Given the description of an element on the screen output the (x, y) to click on. 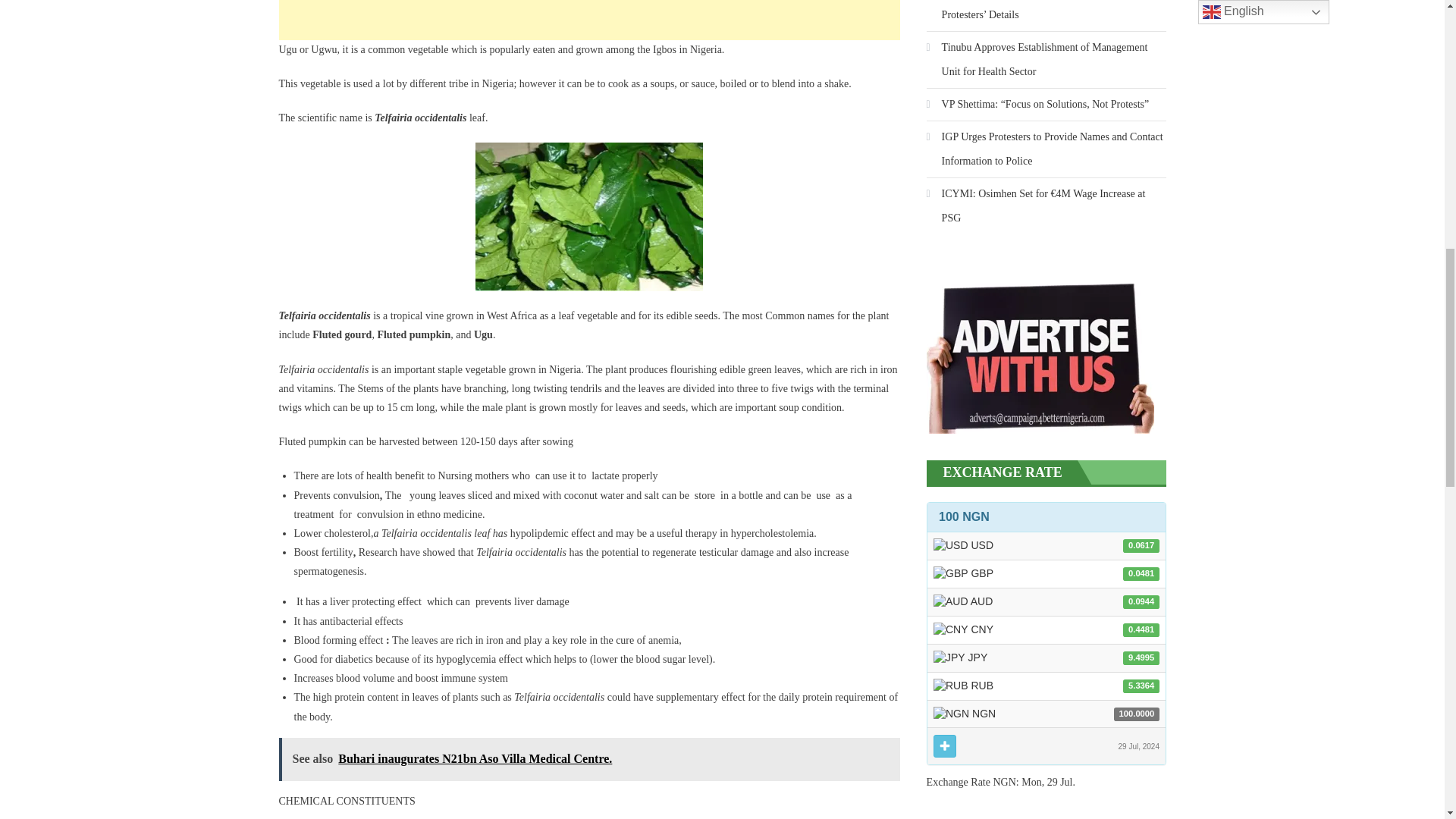
See also  Buhari inaugurates N21bn Aso Villa Medical Centre. (589, 759)
Advertisement (589, 20)
